Given the description of an element on the screen output the (x, y) to click on. 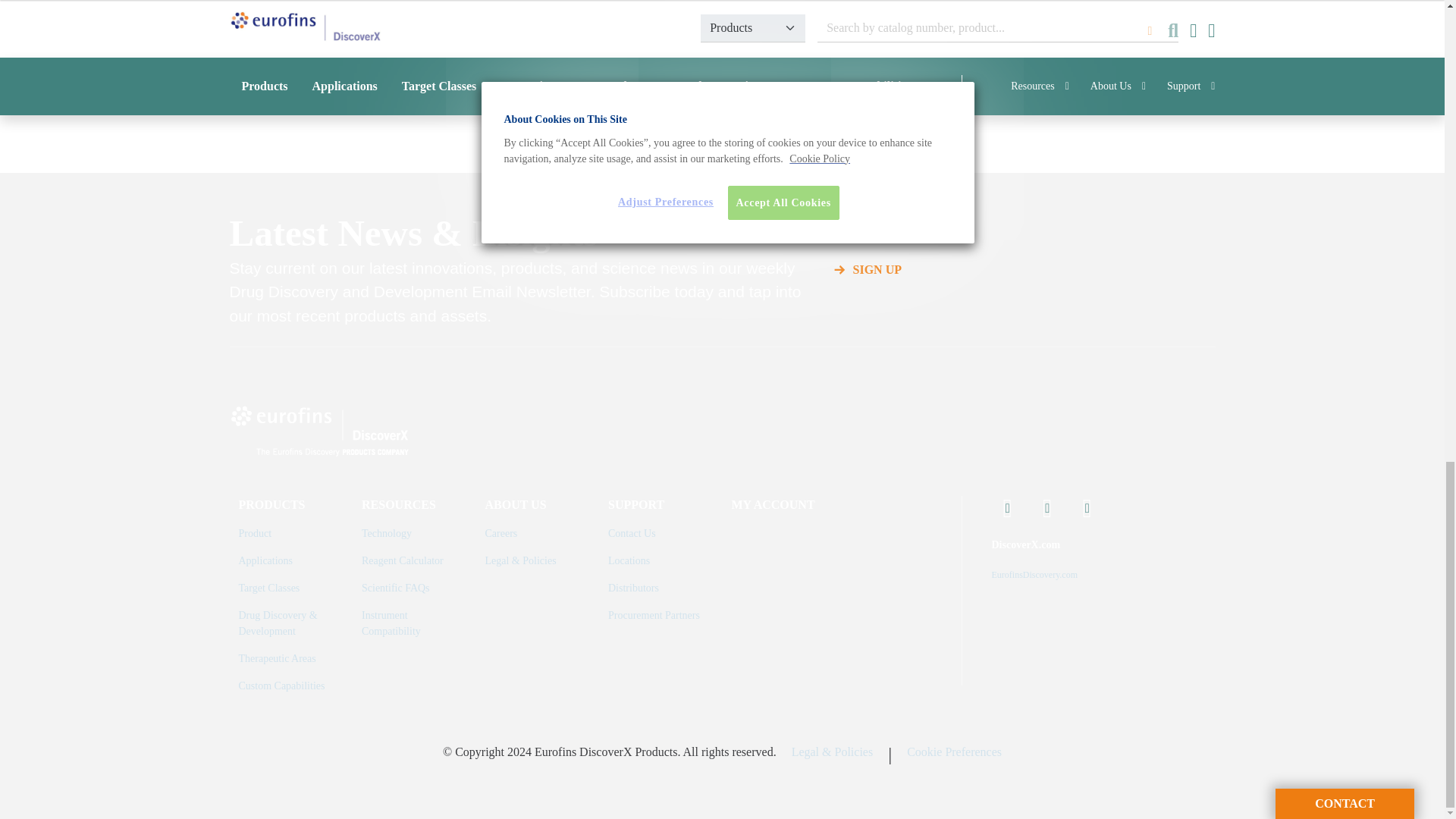
Blog (1086, 508)
LinkedIn (1047, 508)
Youtube (1008, 508)
